Given the description of an element on the screen output the (x, y) to click on. 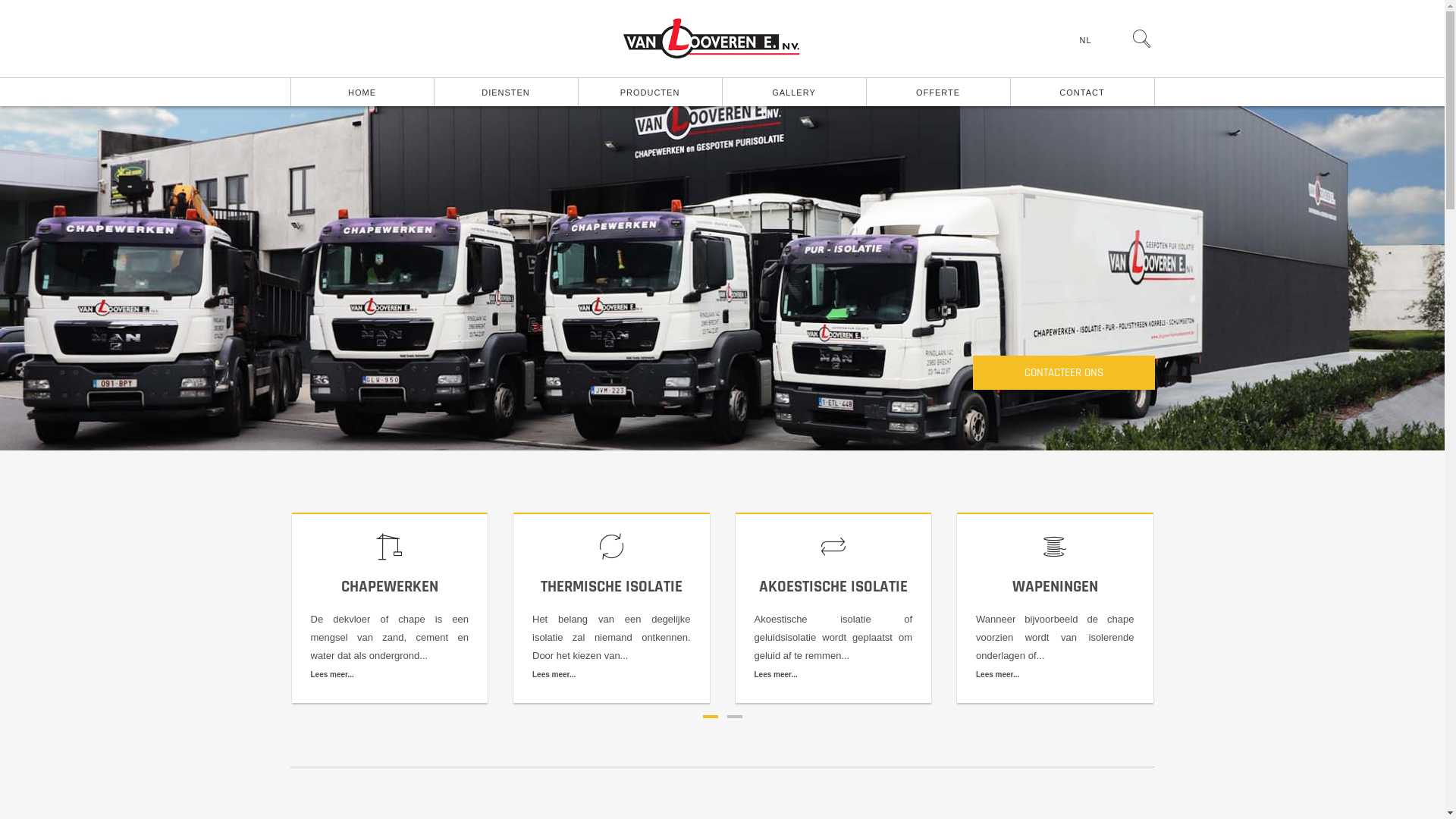
2 Element type: text (733, 716)
1 Element type: text (709, 716)
DIENSTEN Element type: text (505, 92)
OFFERTE Element type: text (938, 92)
CONTACTEER ONS Element type: text (1063, 372)
CONTACT Element type: text (1082, 92)
NL Element type: text (1086, 39)
PRODUCTEN Element type: text (649, 92)
HOME Element type: text (361, 92)
GALLERY Element type: text (793, 92)
